Given the description of an element on the screen output the (x, y) to click on. 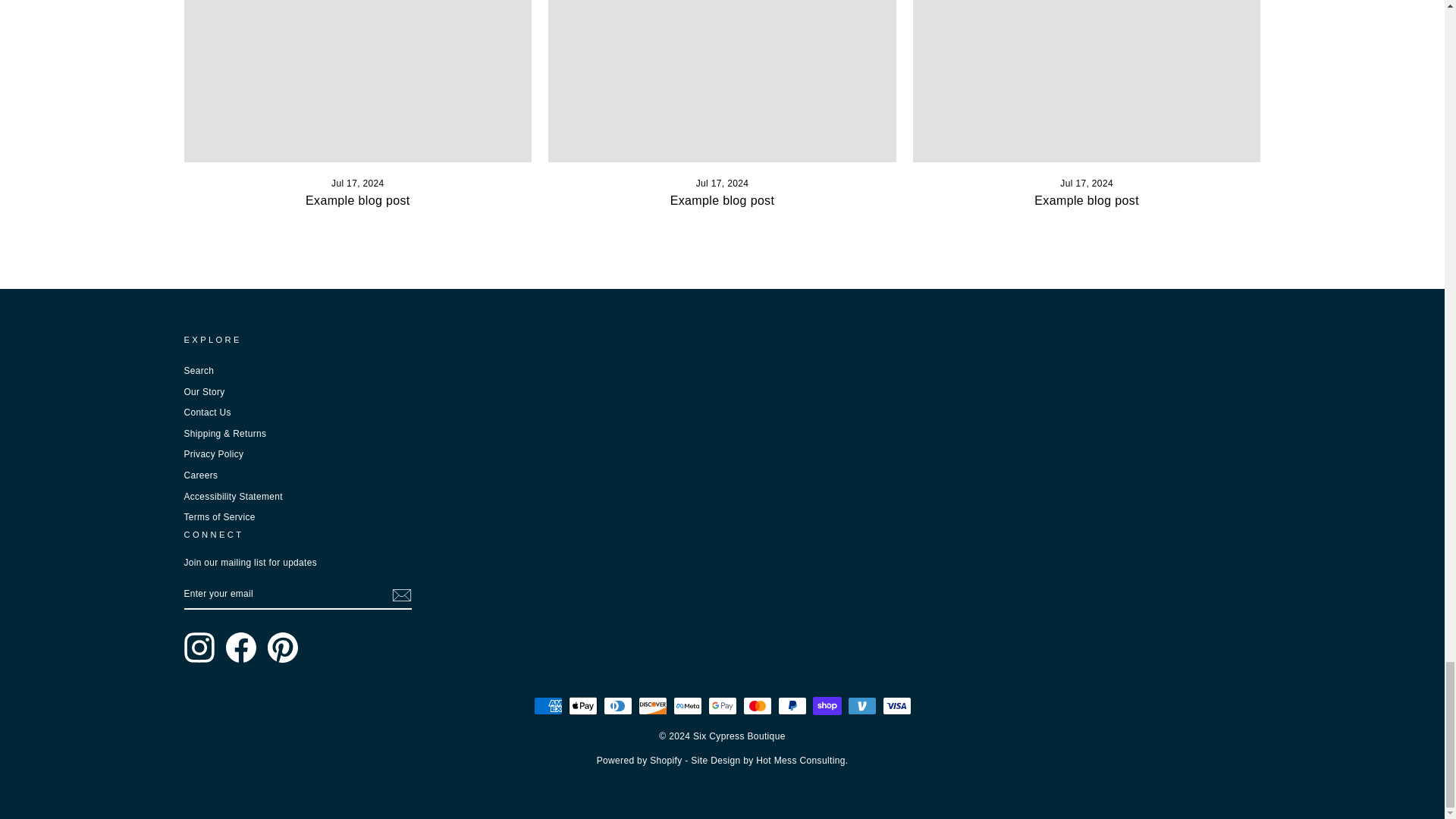
Six Cypress Boutique on Facebook (240, 647)
Meta Pay (686, 705)
Six Cypress Boutique on Pinterest (281, 647)
Six Cypress Boutique on Instagram (198, 647)
American Express (548, 705)
Diners Club (617, 705)
Discover (652, 705)
Apple Pay (582, 705)
